Given the description of an element on the screen output the (x, y) to click on. 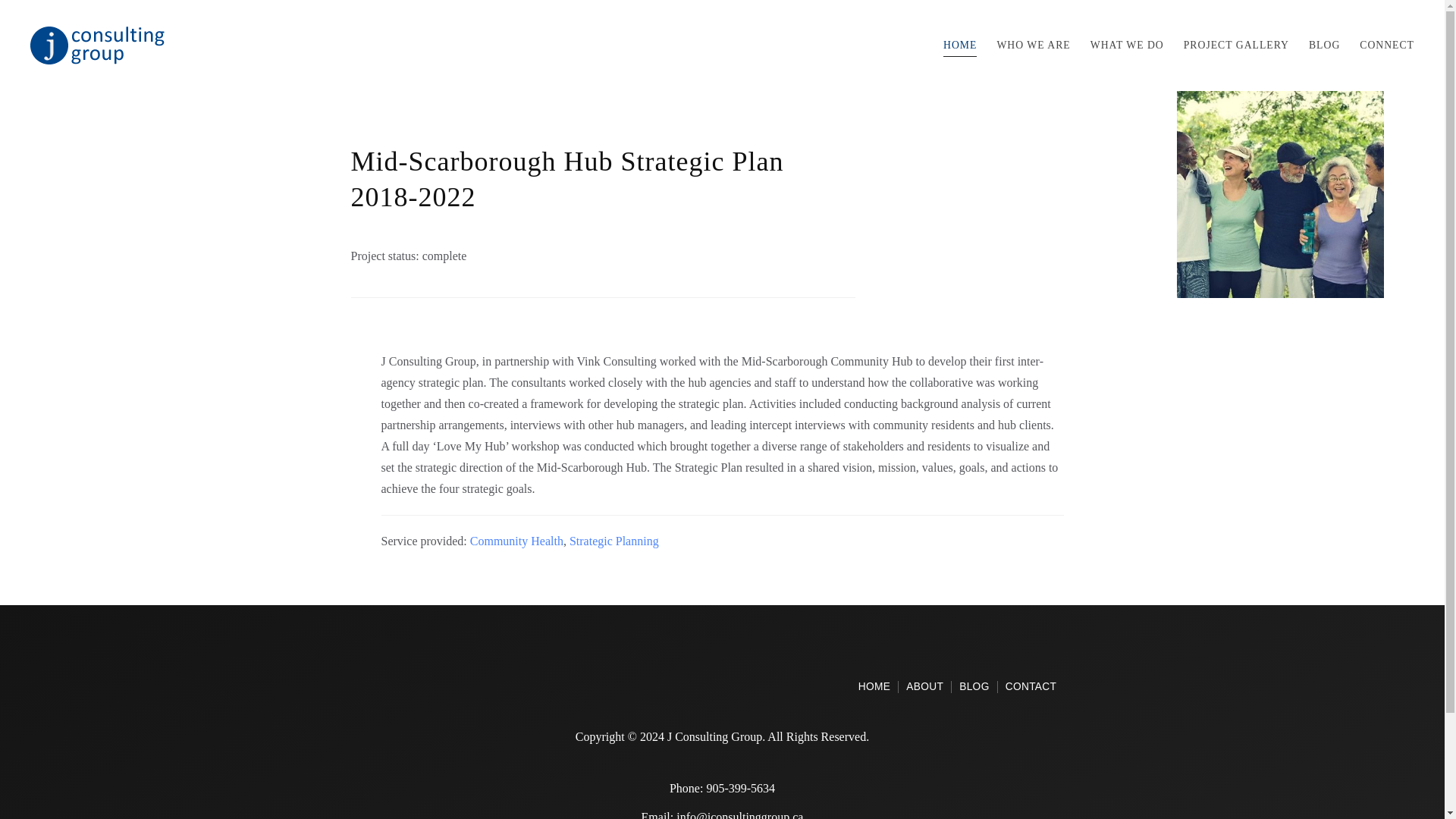
CONNECT (1386, 45)
Strategic Planning (614, 540)
WHO WE ARE (1033, 45)
CONTACT (1031, 687)
ABOUT (924, 687)
WHAT WE DO (1126, 45)
Community Health (516, 540)
HOME (875, 687)
PROJECT GALLERY (1235, 45)
905-399-5634 (956, 687)
BLOG (740, 788)
